Given the description of an element on the screen output the (x, y) to click on. 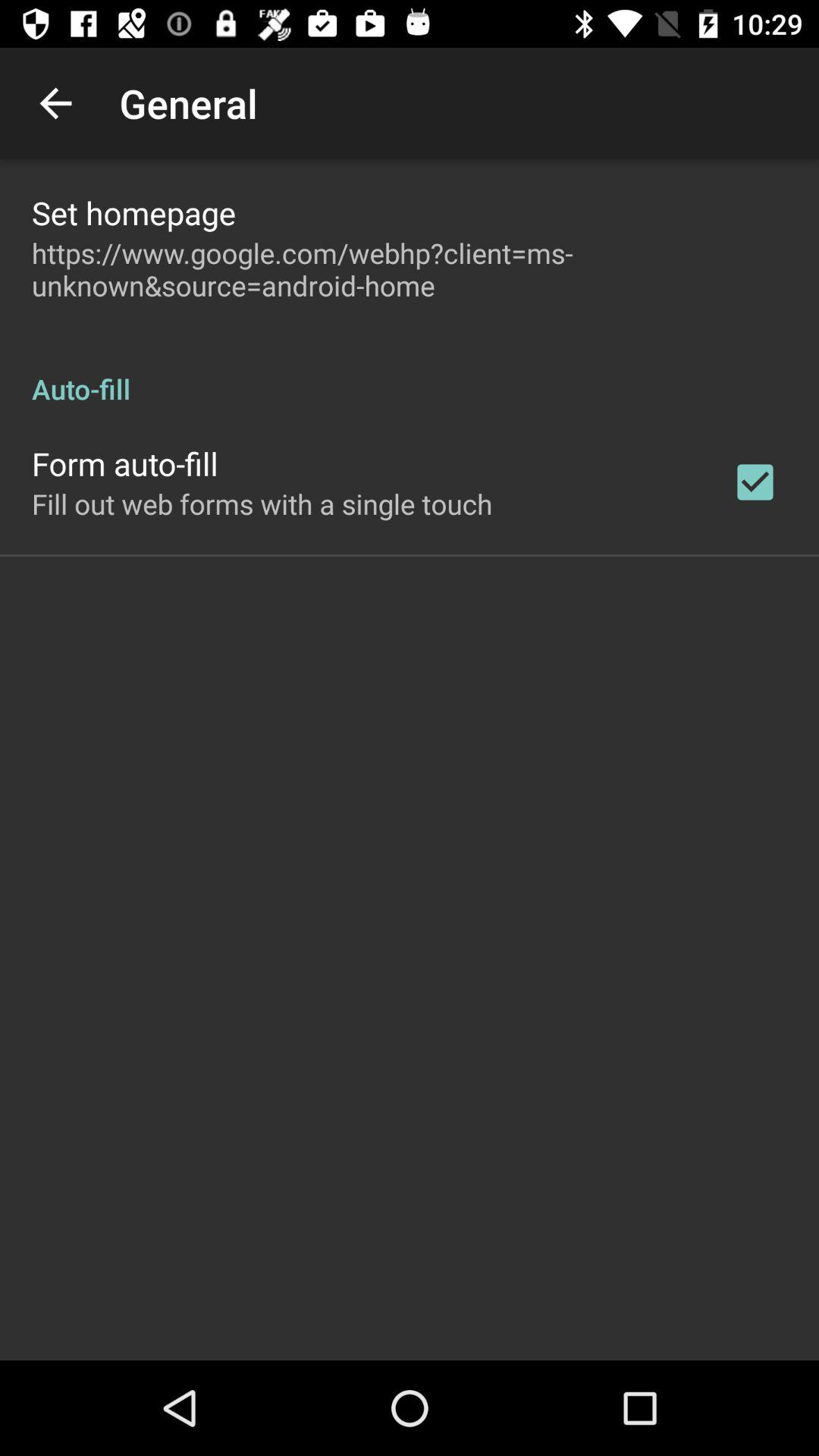
launch the set homepage item (133, 212)
